Given the description of an element on the screen output the (x, y) to click on. 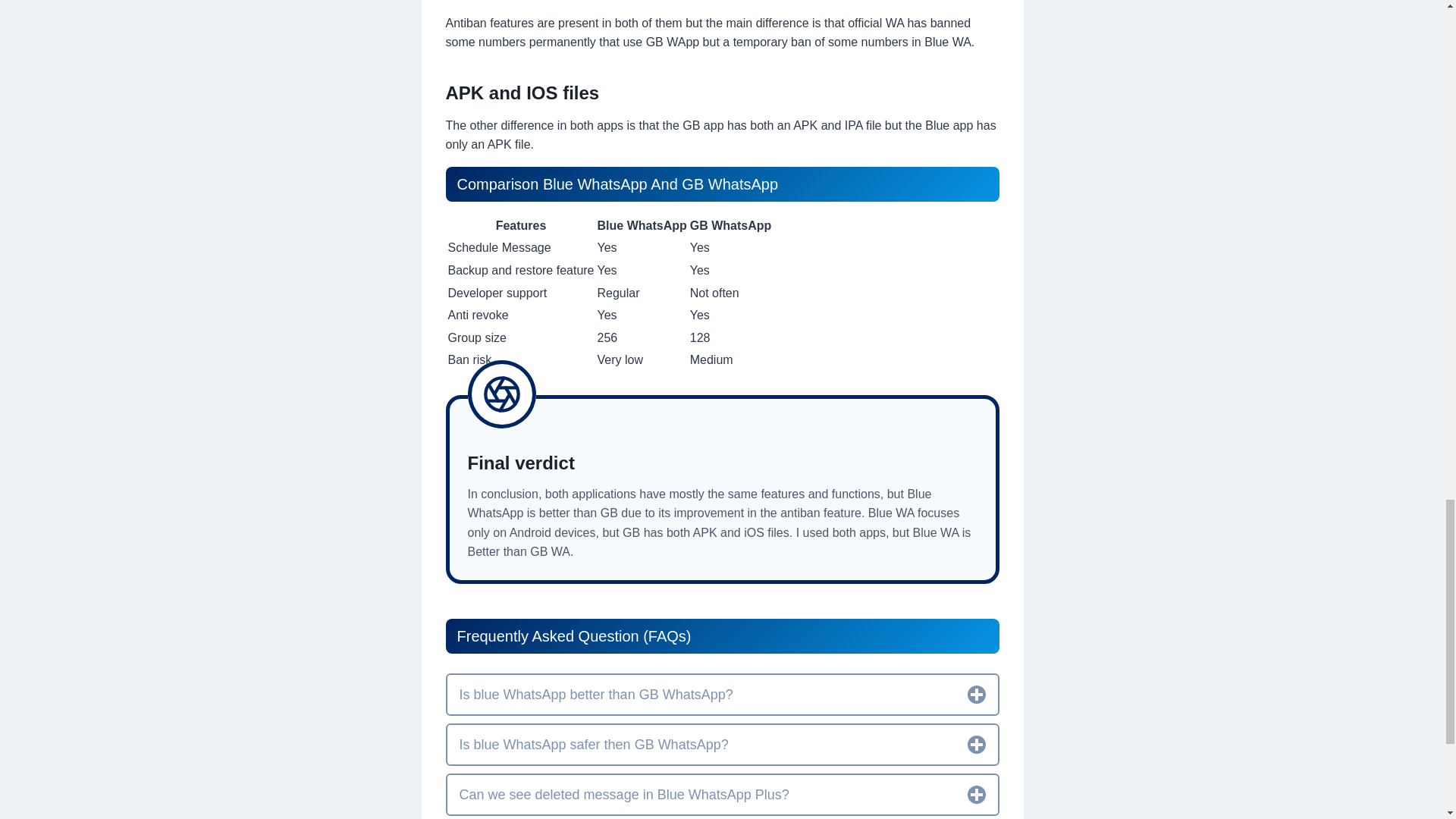
Is blue WhatsApp better than GB WhatsApp? (721, 694)
Can we see deleted message in Blue WhatsApp Plus? (721, 794)
Is blue WhatsApp safer then GB WhatsApp? (721, 744)
